Given the description of an element on the screen output the (x, y) to click on. 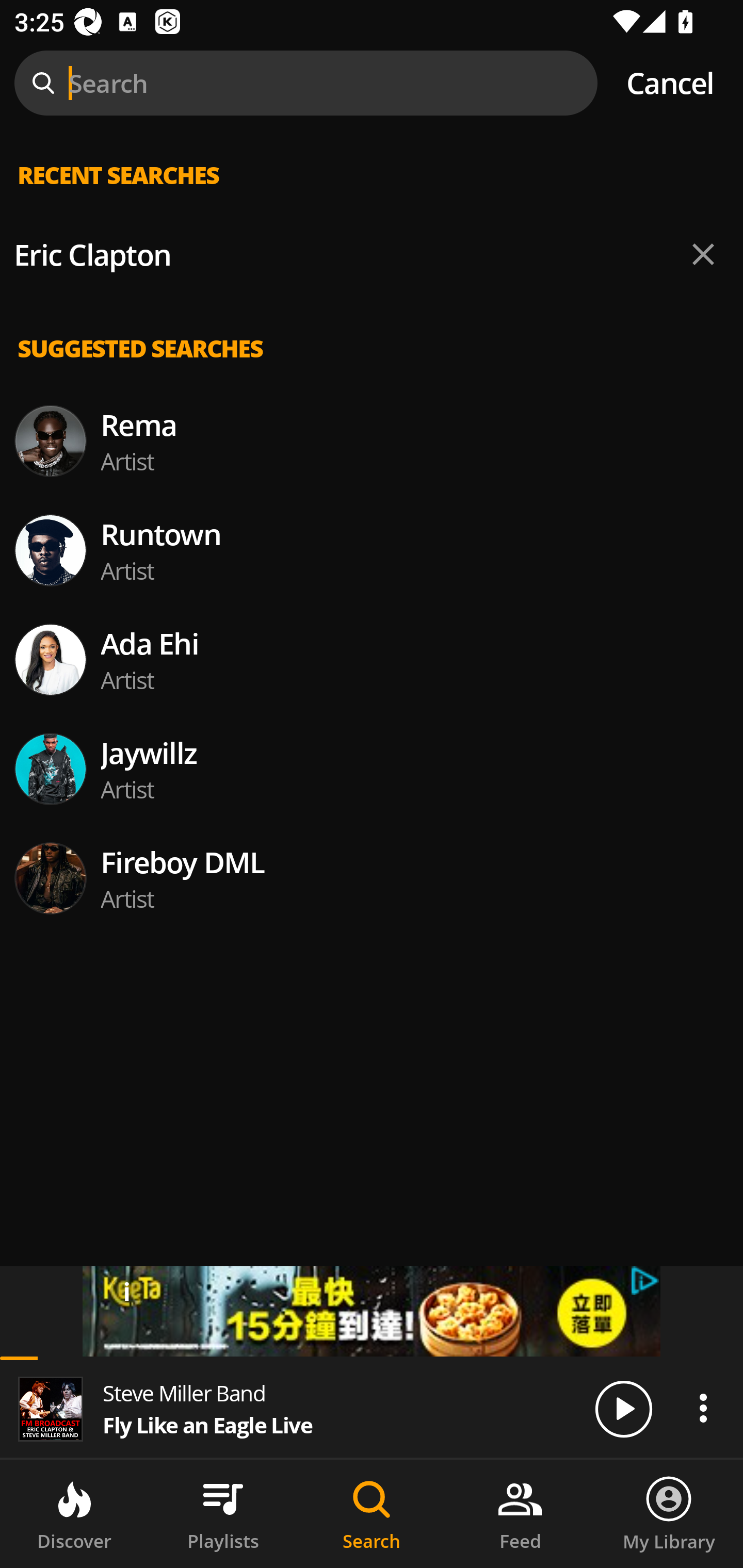
Search Cancel (371, 82)
Cancel (670, 82)
Artists, songs, albums and playlists… (371, 191)
Eric Clapton Delete (371, 254)
Delete (703, 254)
Rema Artist (371, 440)
Runtown Artist (371, 550)
Ada Ehi Artist (371, 660)
Jaywillz Artist (371, 769)
Fireboy DML Artist (371, 877)
Actions (703, 1407)
Play/Pause (623, 1408)
Discover (74, 1513)
Playlists (222, 1513)
Search (371, 1513)
Feed (519, 1513)
My Library (668, 1513)
